Given the description of an element on the screen output the (x, y) to click on. 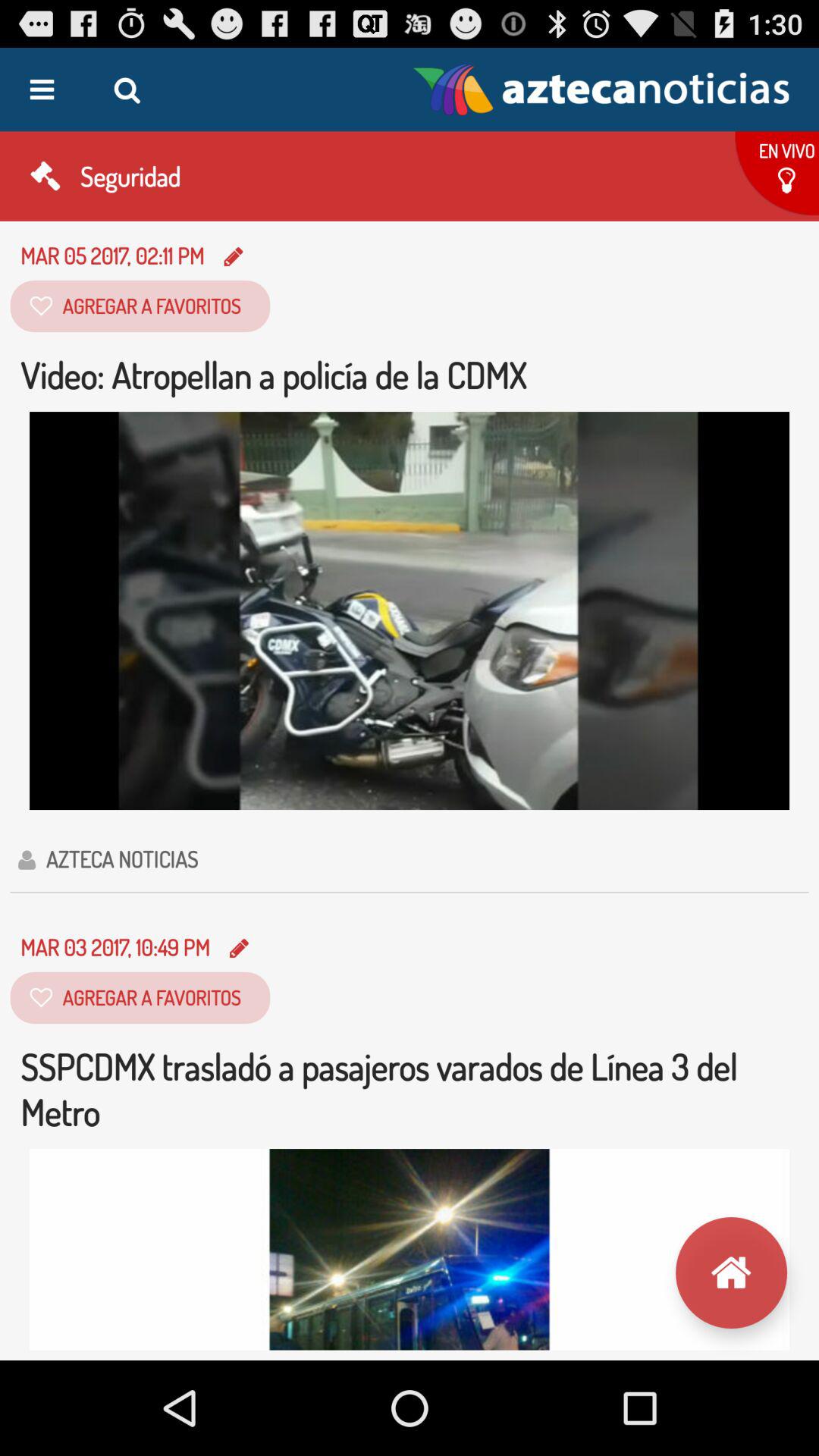
click on the button below mar 05 20170211 pm (140, 306)
click the button below the logo on the web page (774, 176)
click the button below the text mar 03 20171049 pm on the web page (140, 997)
